Given the description of an element on the screen output the (x, y) to click on. 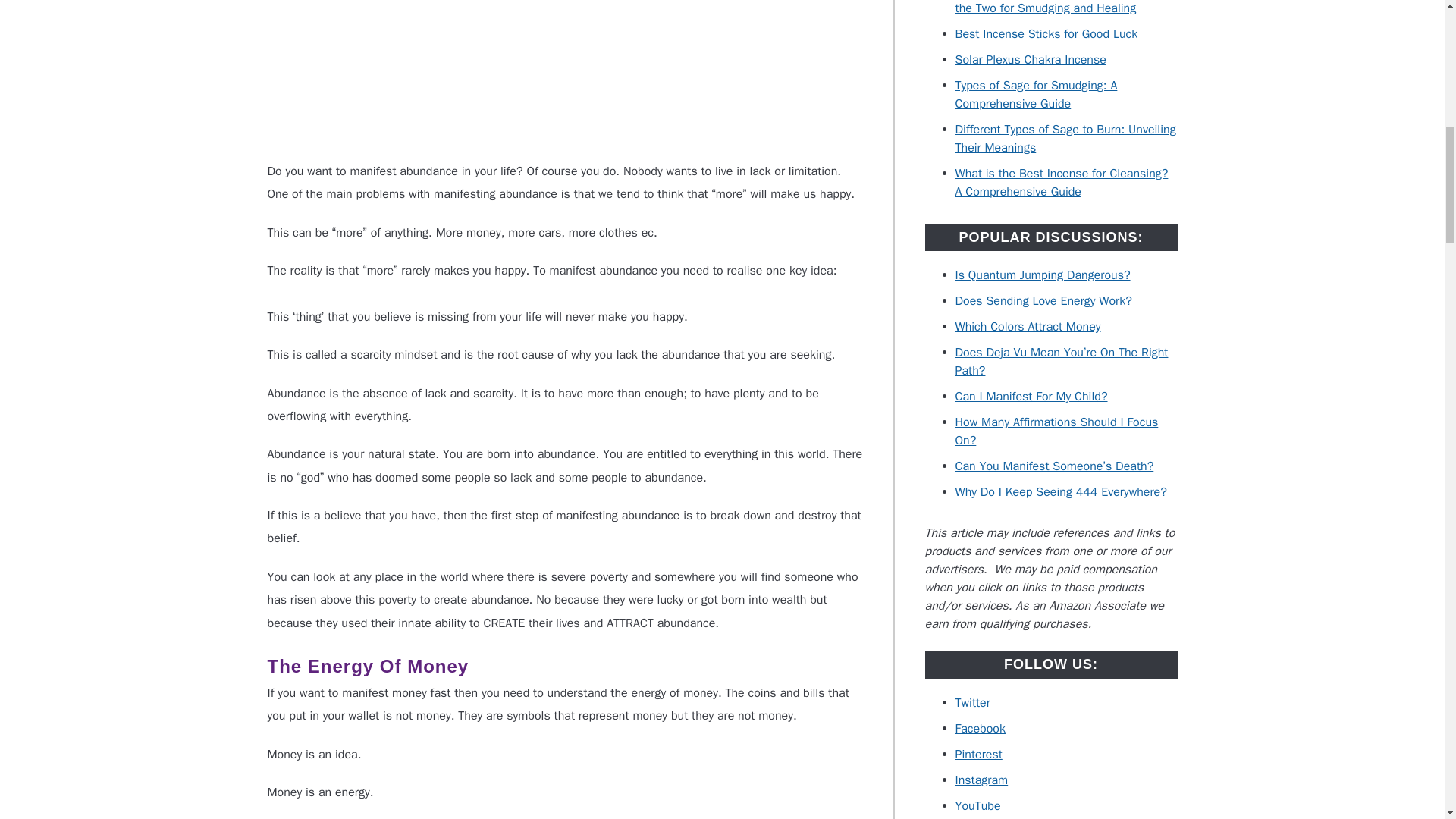
Solar Plexus Chakra Incense (1030, 59)
Different Types of Sage to Burn: Unveiling Their Meanings (1065, 138)
Best Incense Sticks for Good Luck (1046, 33)
Types of Sage for Smudging: A Comprehensive Guide (1036, 94)
